Given the description of an element on the screen output the (x, y) to click on. 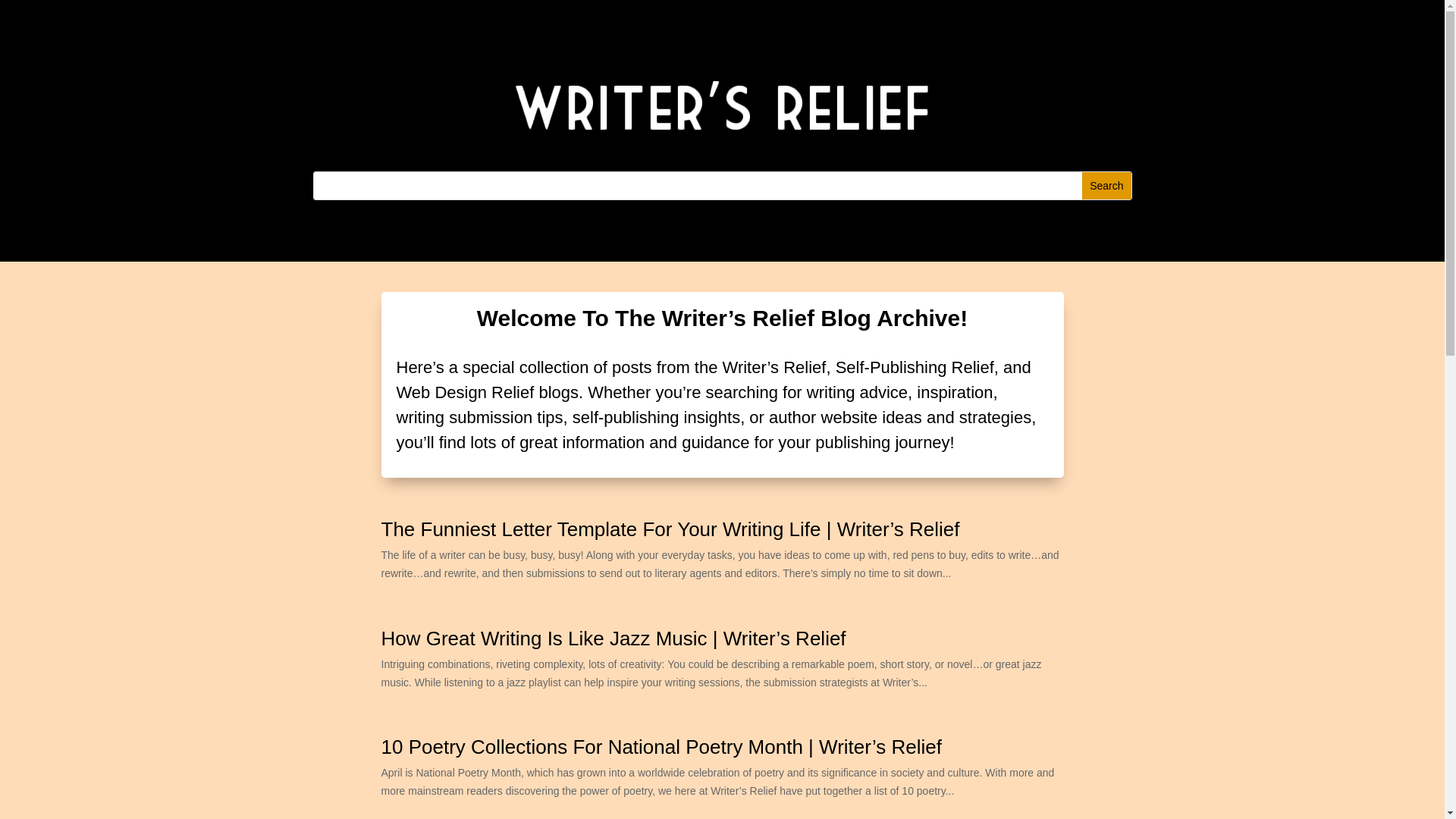
WRMainLogo-NEW2024 (722, 104)
Search (1106, 185)
Search (1106, 185)
Search (1106, 185)
